Given the description of an element on the screen output the (x, y) to click on. 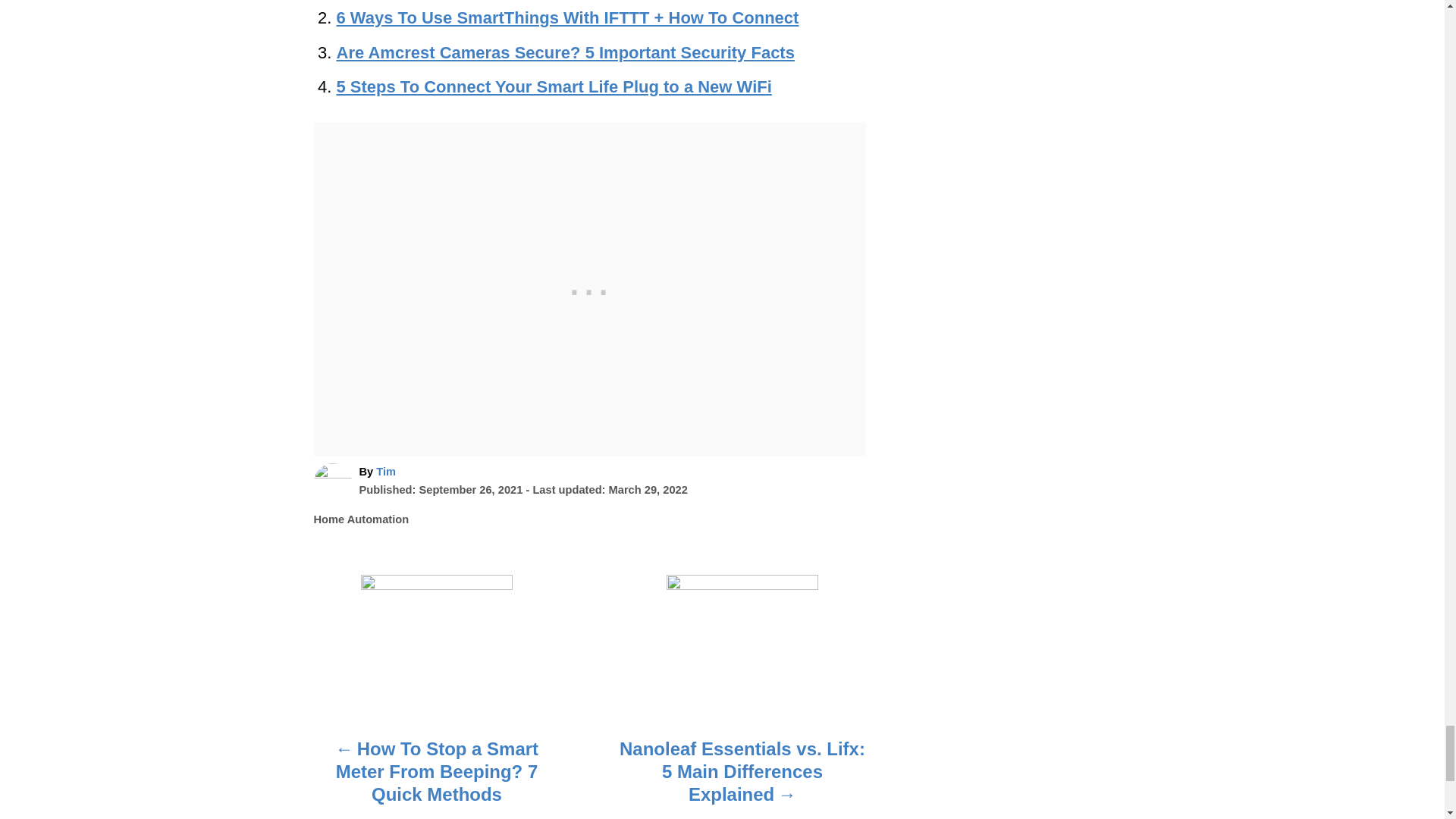
Are Amcrest Cameras Secure? 5 Important Security Facts (565, 52)
5 Steps To Connect Your Smart Life Plug to a New WiFi (553, 86)
